Given the description of an element on the screen output the (x, y) to click on. 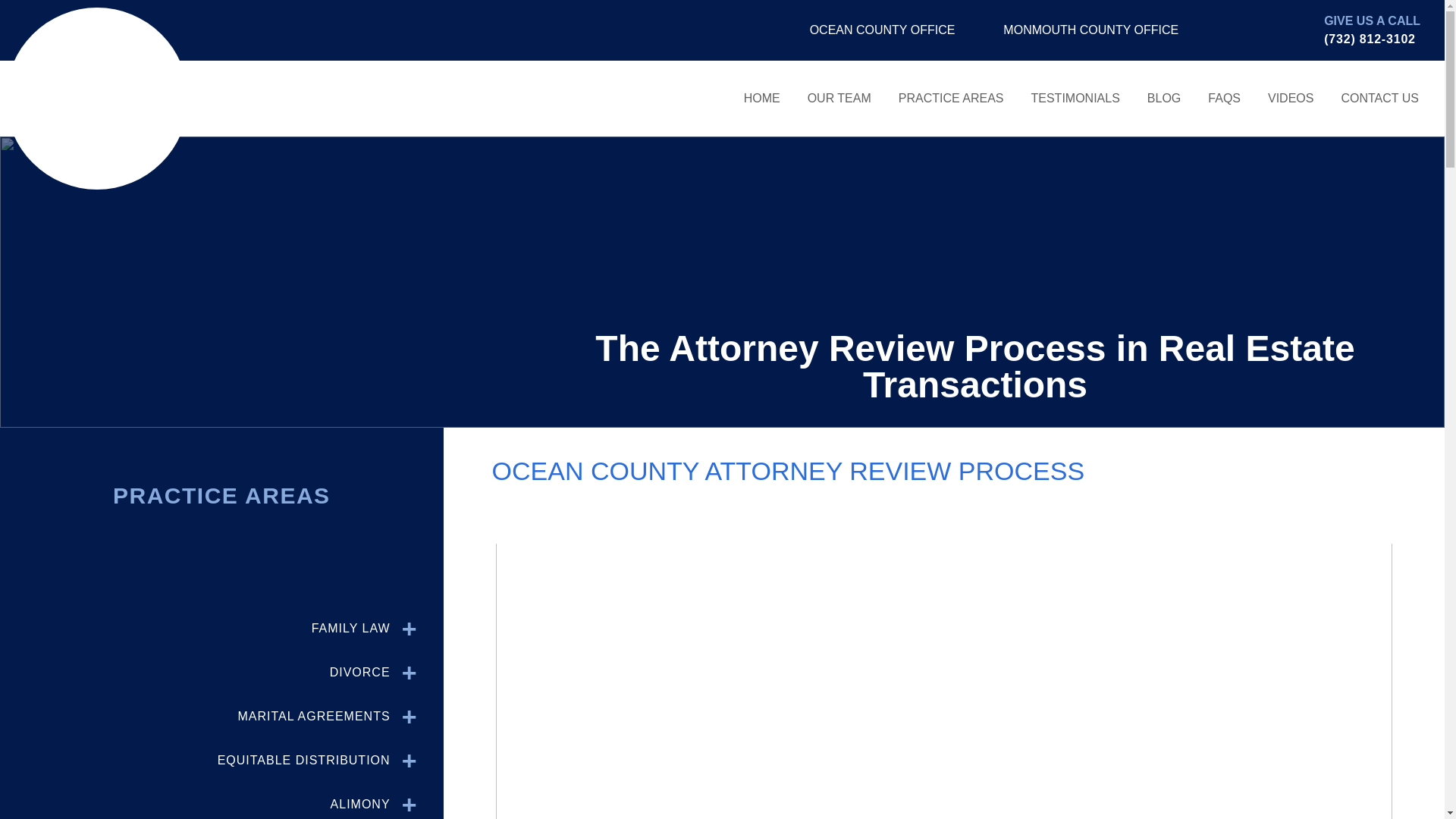
Bronzino Law Firm (96, 98)
OUR TEAM (839, 97)
VIDEOS (1290, 97)
HOME (761, 97)
BLOG (1163, 97)
Twitter Profile Bronzino Law LLC (1253, 32)
Facebook Profile Bronzino Law LLC (1226, 33)
Linkedin Profile Bronzino Law LLC (1281, 33)
PRACTICE AREAS (951, 97)
MONMOUTH COUNTY OFFICE (1077, 30)
